Given the description of an element on the screen output the (x, y) to click on. 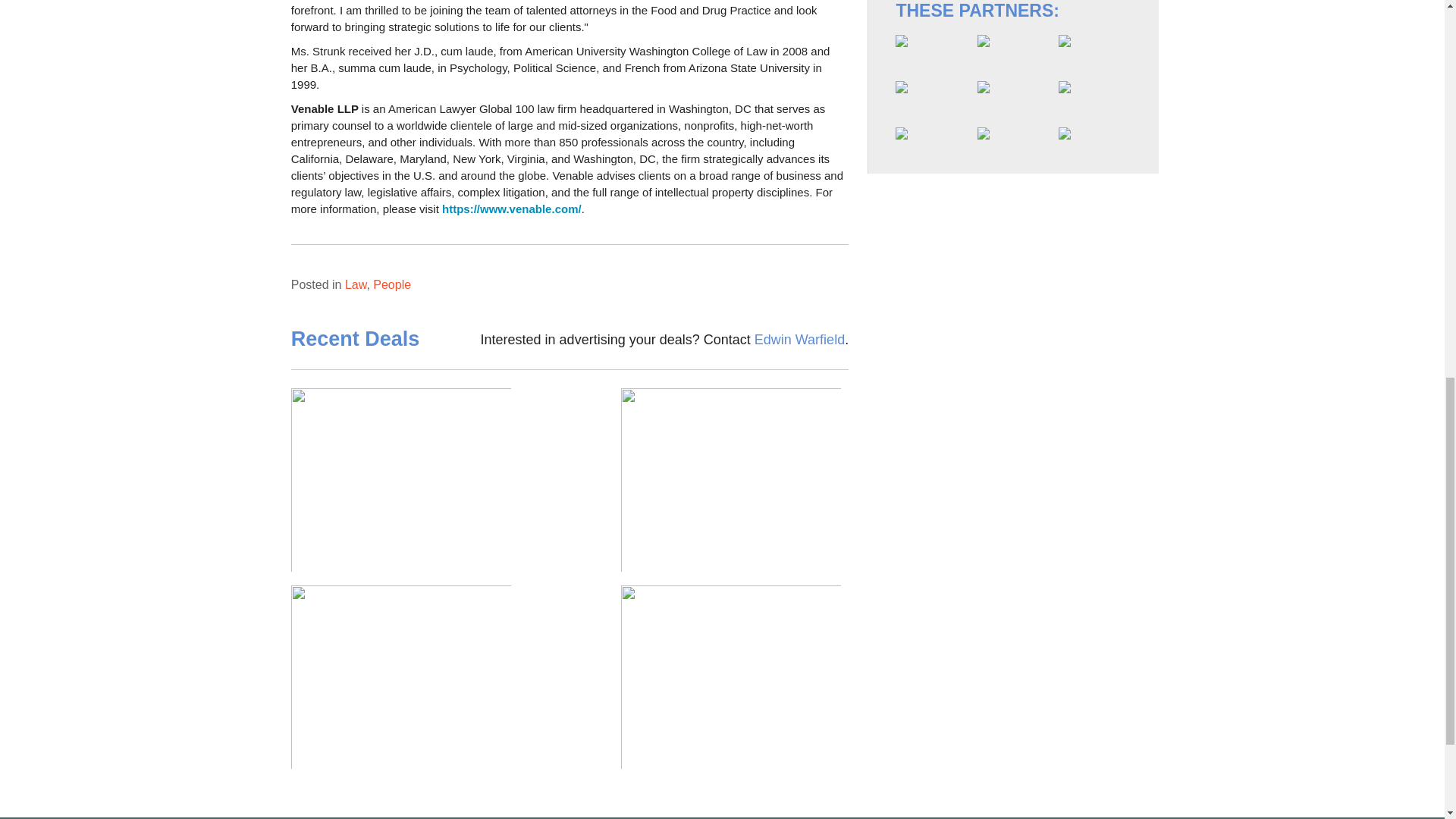
Law (355, 284)
People (391, 284)
Edwin Warfield (799, 339)
